Given the description of an element on the screen output the (x, y) to click on. 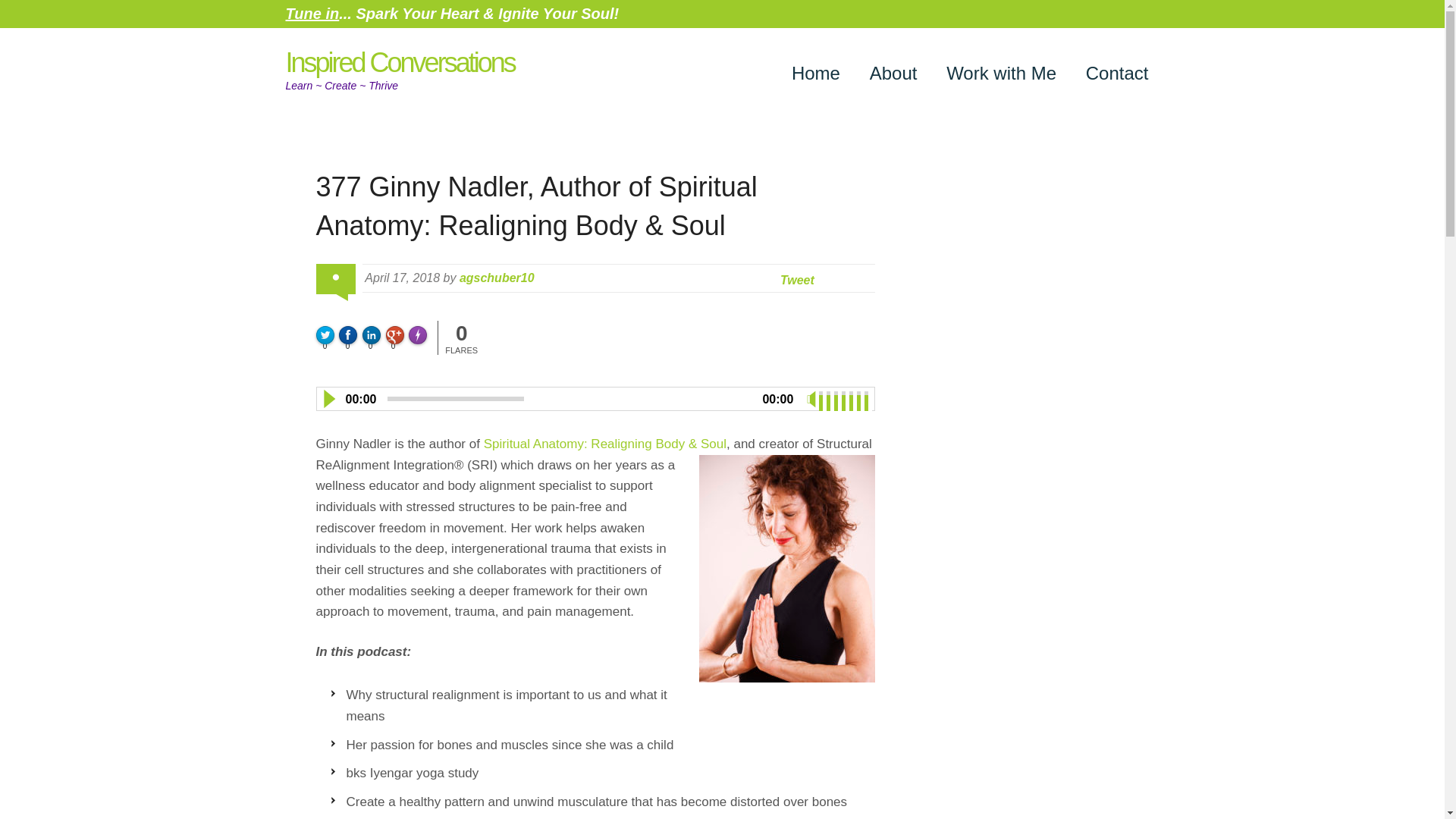
Inspired Conversations (399, 61)
Tune in (312, 13)
Tweet (796, 279)
Play (328, 398)
Work with Me (1001, 72)
Mute (811, 398)
Posts by agschuber10 (497, 277)
Home (816, 72)
agschuber10 (497, 277)
Contact (1116, 72)
About (893, 72)
